Given the description of an element on the screen output the (x, y) to click on. 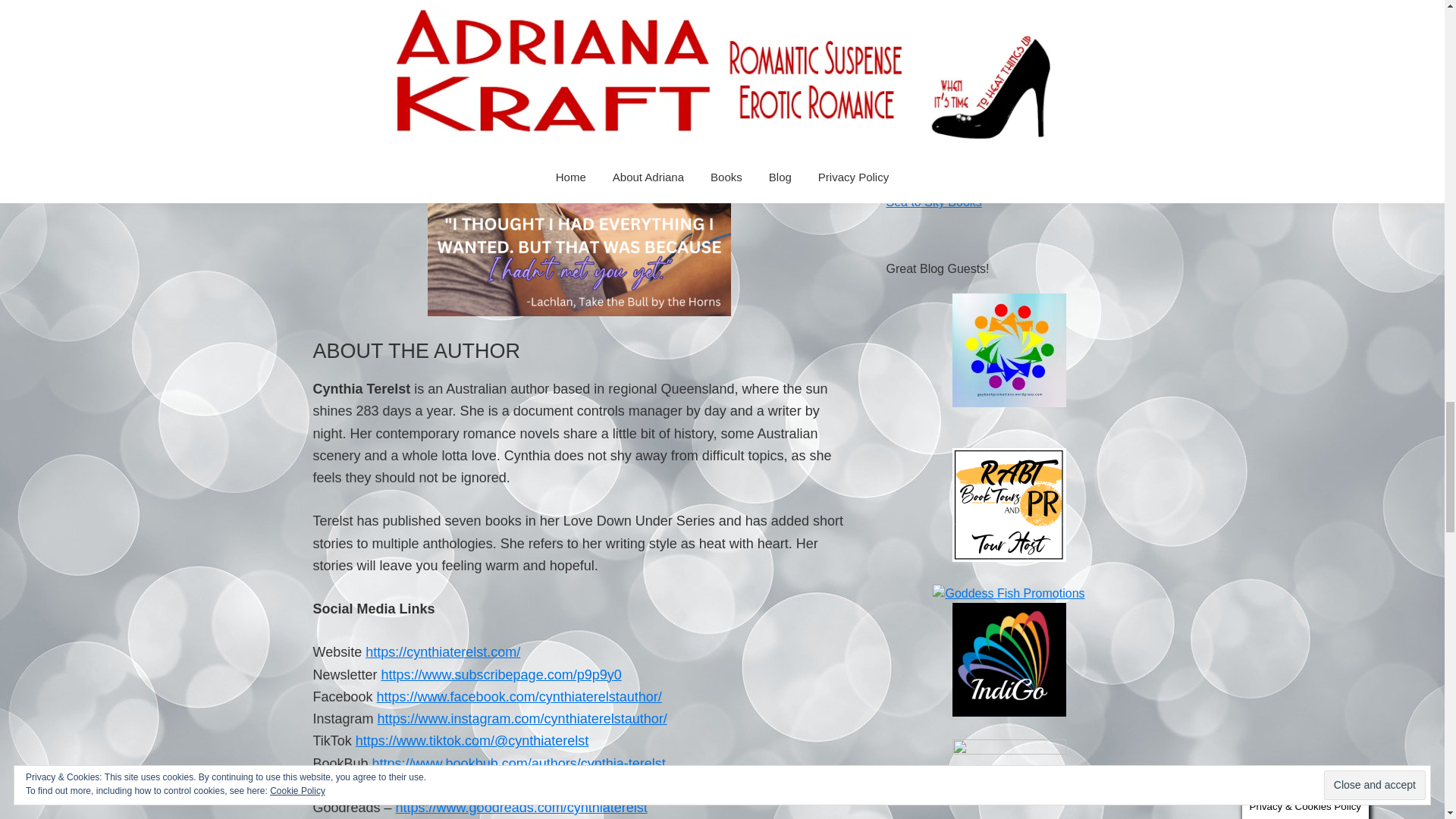
Goddess Fish Promotions (1008, 593)
